Given the description of an element on the screen output the (x, y) to click on. 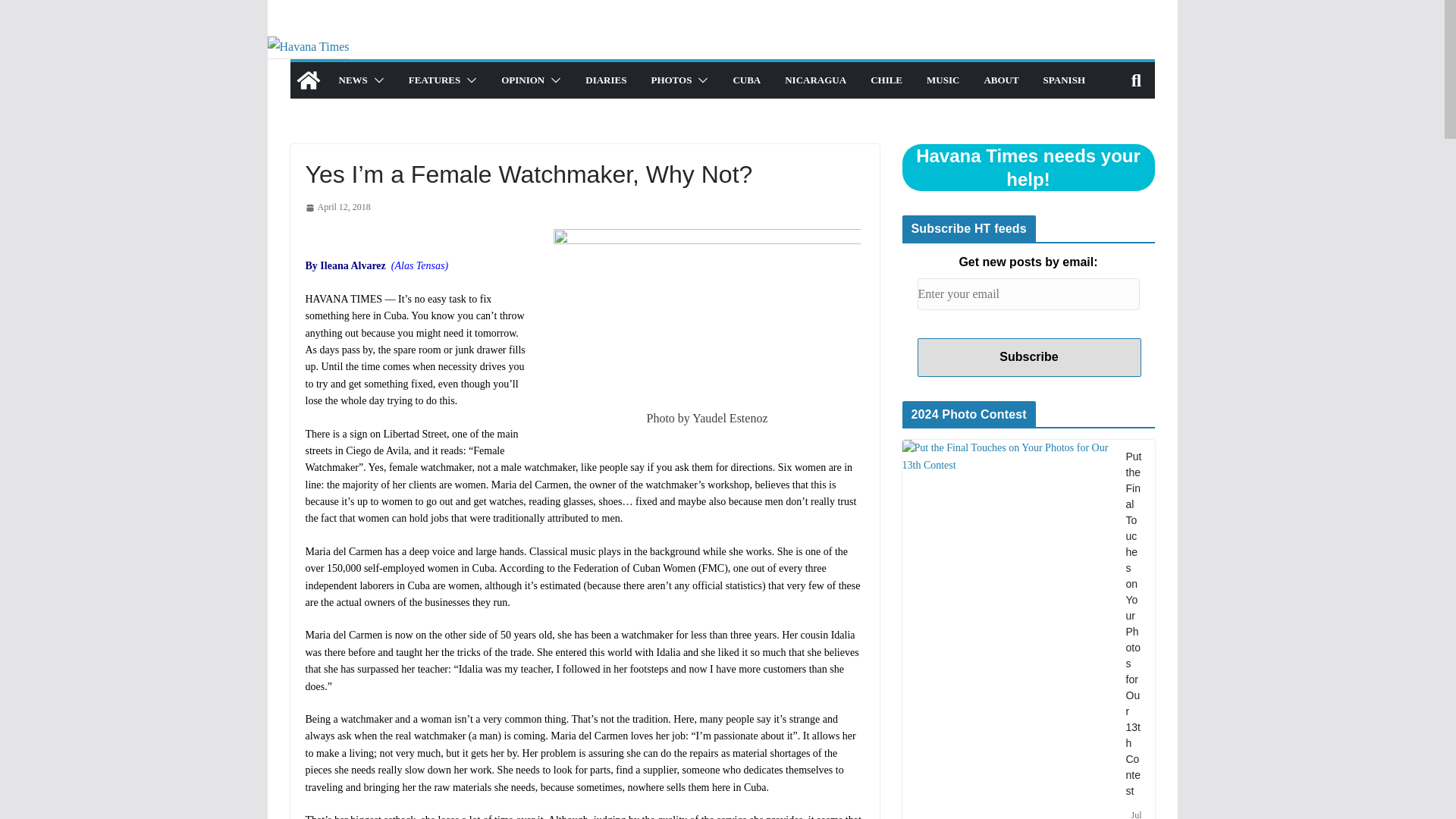
10:06 pm (1133, 813)
CHILE (886, 80)
Subscribe (1029, 357)
8:37 am (336, 207)
FEATURES (434, 80)
MUSIC (942, 80)
NEWS (351, 80)
Havana Times (307, 80)
DIARIES (605, 80)
April 12, 2018 (336, 207)
